Given the description of an element on the screen output the (x, y) to click on. 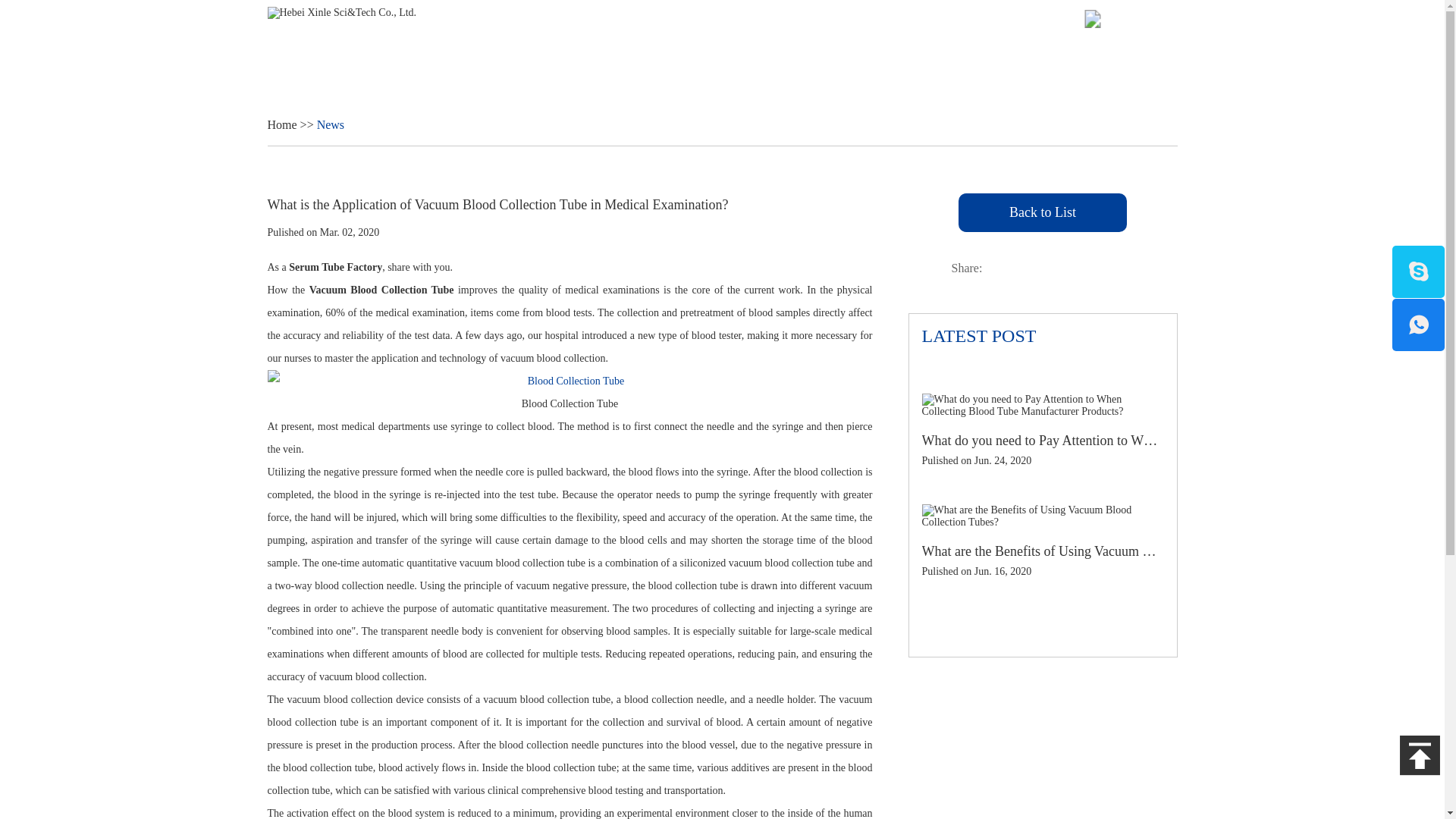
English (1124, 18)
News (980, 57)
News (980, 57)
About Us (911, 57)
Home (767, 57)
About Us (911, 57)
Products (835, 57)
Products (835, 57)
Contact Us (1052, 57)
